Given the description of an element on the screen output the (x, y) to click on. 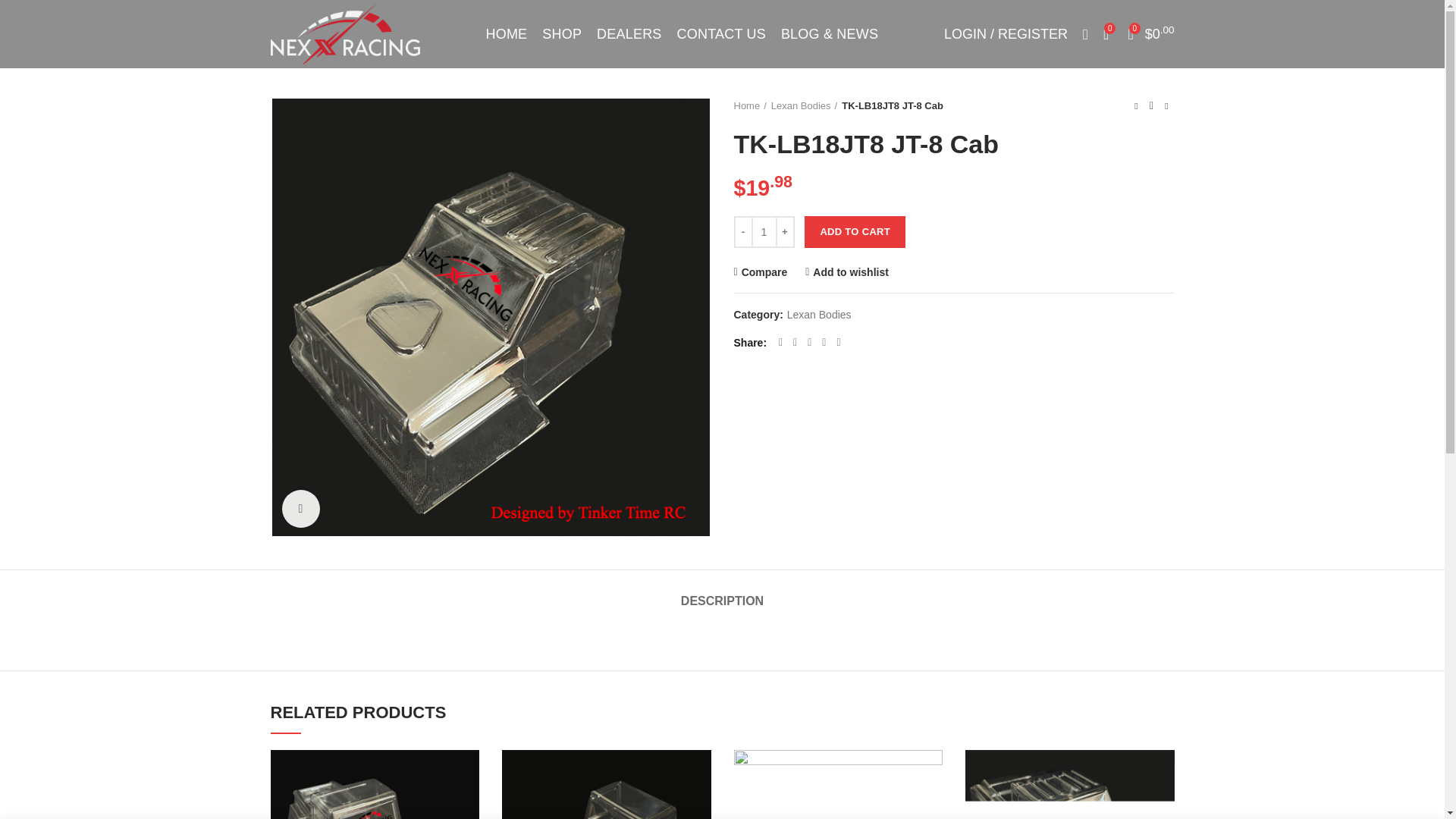
DEALERS (628, 33)
Add to wishlist (846, 271)
Lexan Bodies (804, 105)
ADD TO CART (855, 232)
Previous product (1135, 105)
SHOP (561, 33)
CONTACT US (721, 33)
Compare (760, 271)
DESCRIPTION (721, 593)
HOME (505, 33)
